Given the description of an element on the screen output the (x, y) to click on. 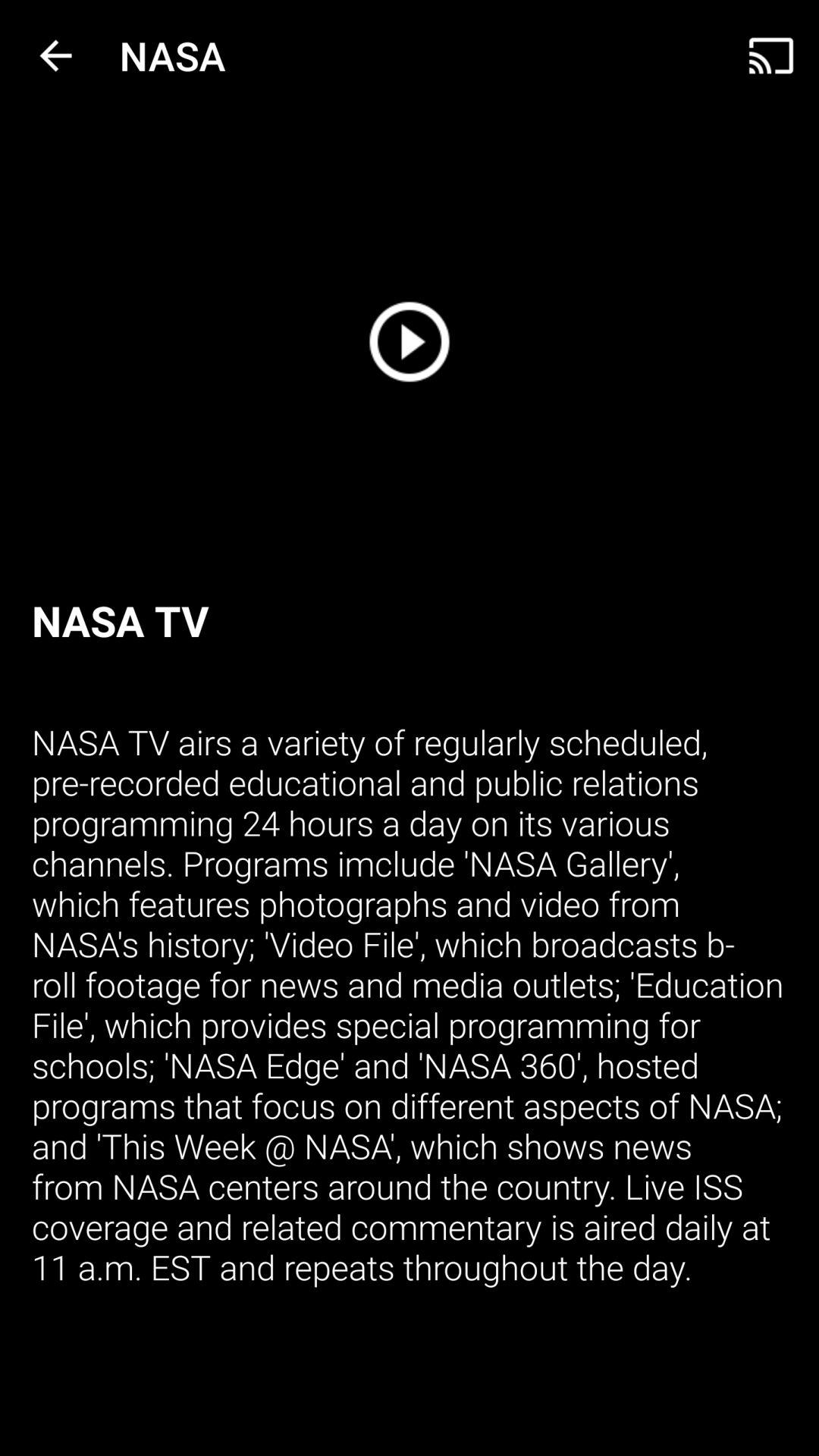
a arrow with a circle around it that is a button for playing a video or audio track (409, 341)
